Given the description of an element on the screen output the (x, y) to click on. 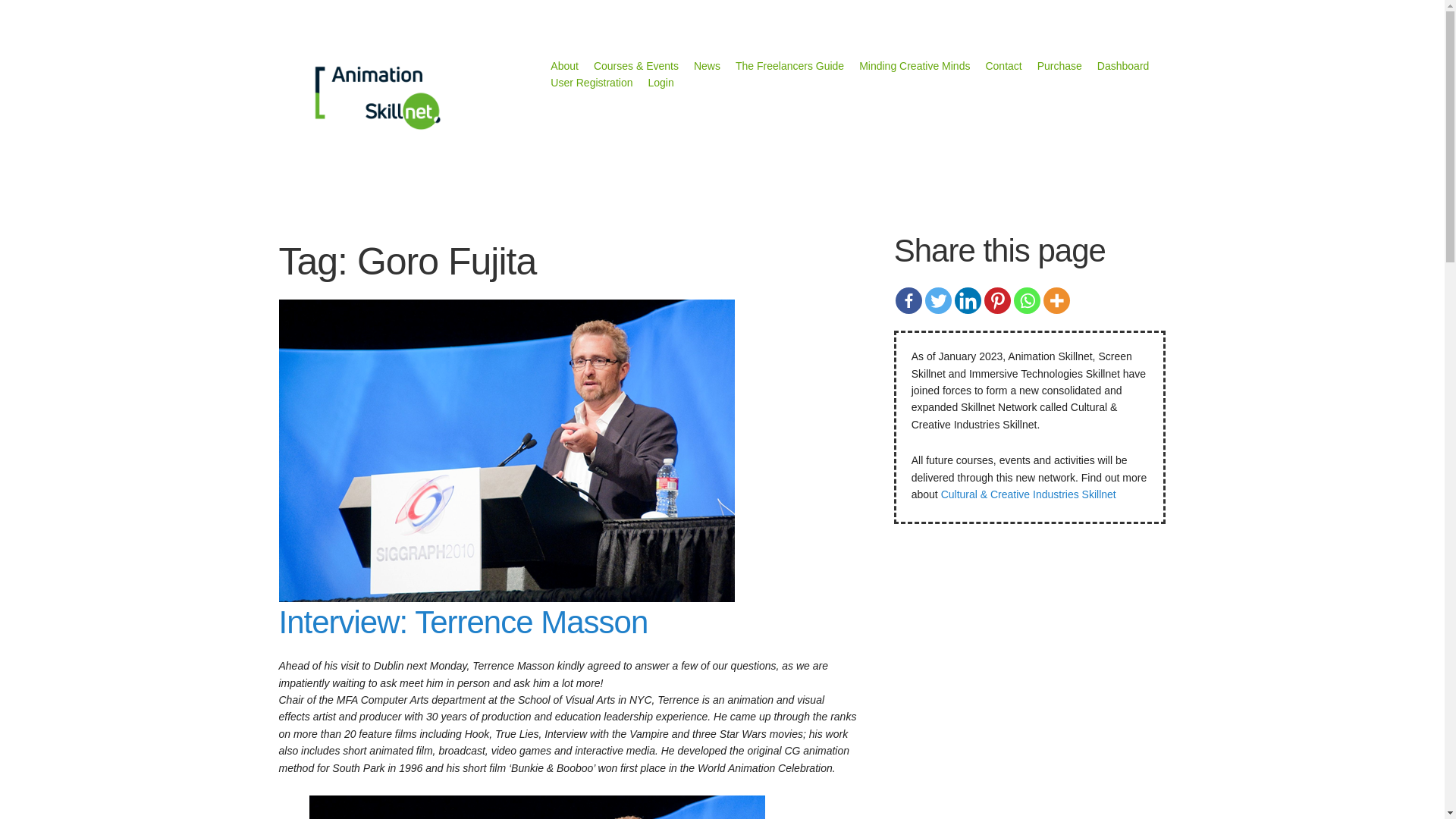
Twitter (938, 300)
Purchase (1058, 65)
Whatsapp (1027, 300)
User Registration (590, 82)
Pinterest (997, 300)
Minding Creative Minds (914, 65)
Linkedin (968, 300)
Login (659, 82)
Interview: Terrence Masson (463, 621)
More (1056, 300)
News (707, 65)
About (564, 65)
Contact (1003, 65)
Dashboard (1123, 65)
Facebook (908, 300)
